Given the description of an element on the screen output the (x, y) to click on. 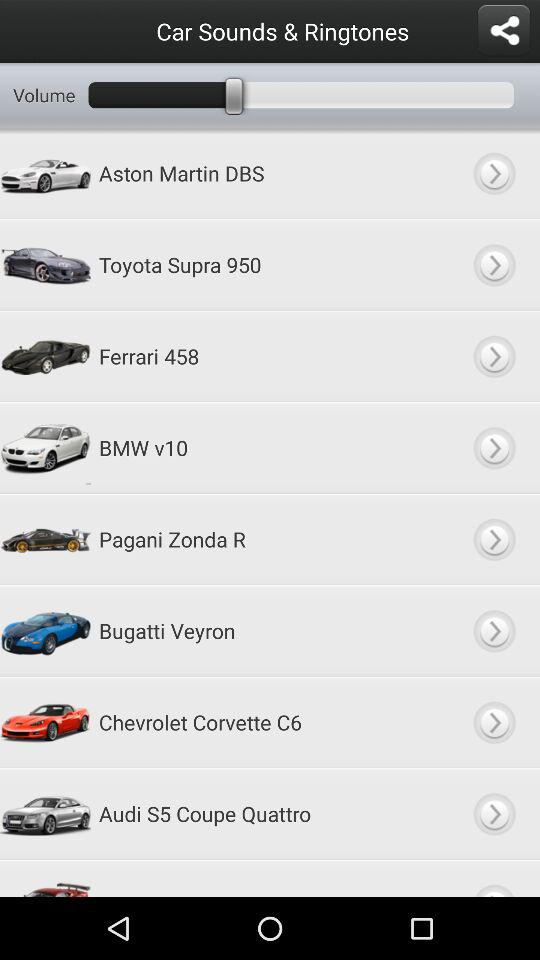
go next (494, 356)
